Given the description of an element on the screen output the (x, y) to click on. 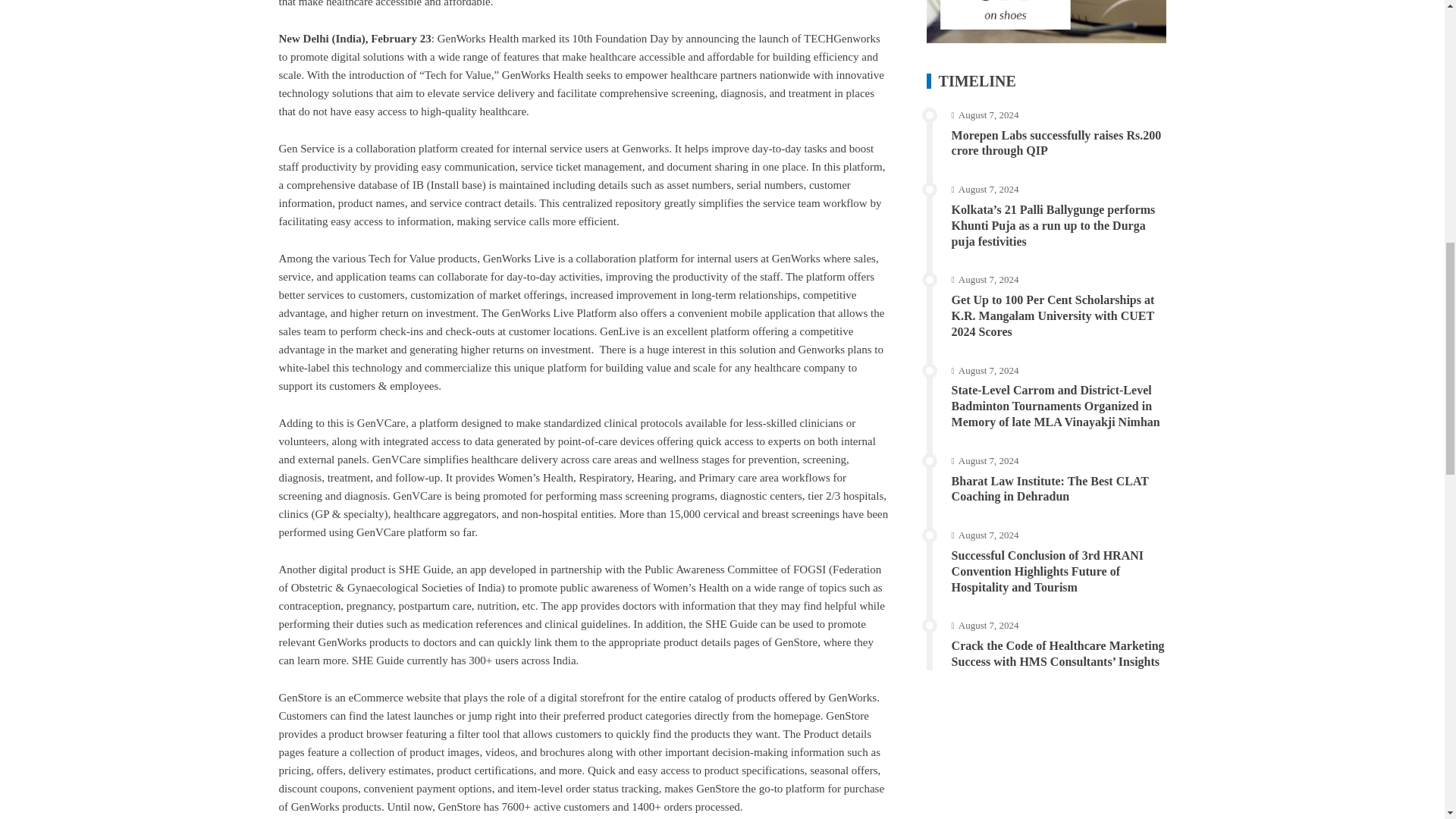
Bharat Law Institute: The Best CLAT Coaching in Dehradun (1050, 489)
Morepen Labs successfully raises Rs.200 crore through QIP (1056, 143)
